Given the description of an element on the screen output the (x, y) to click on. 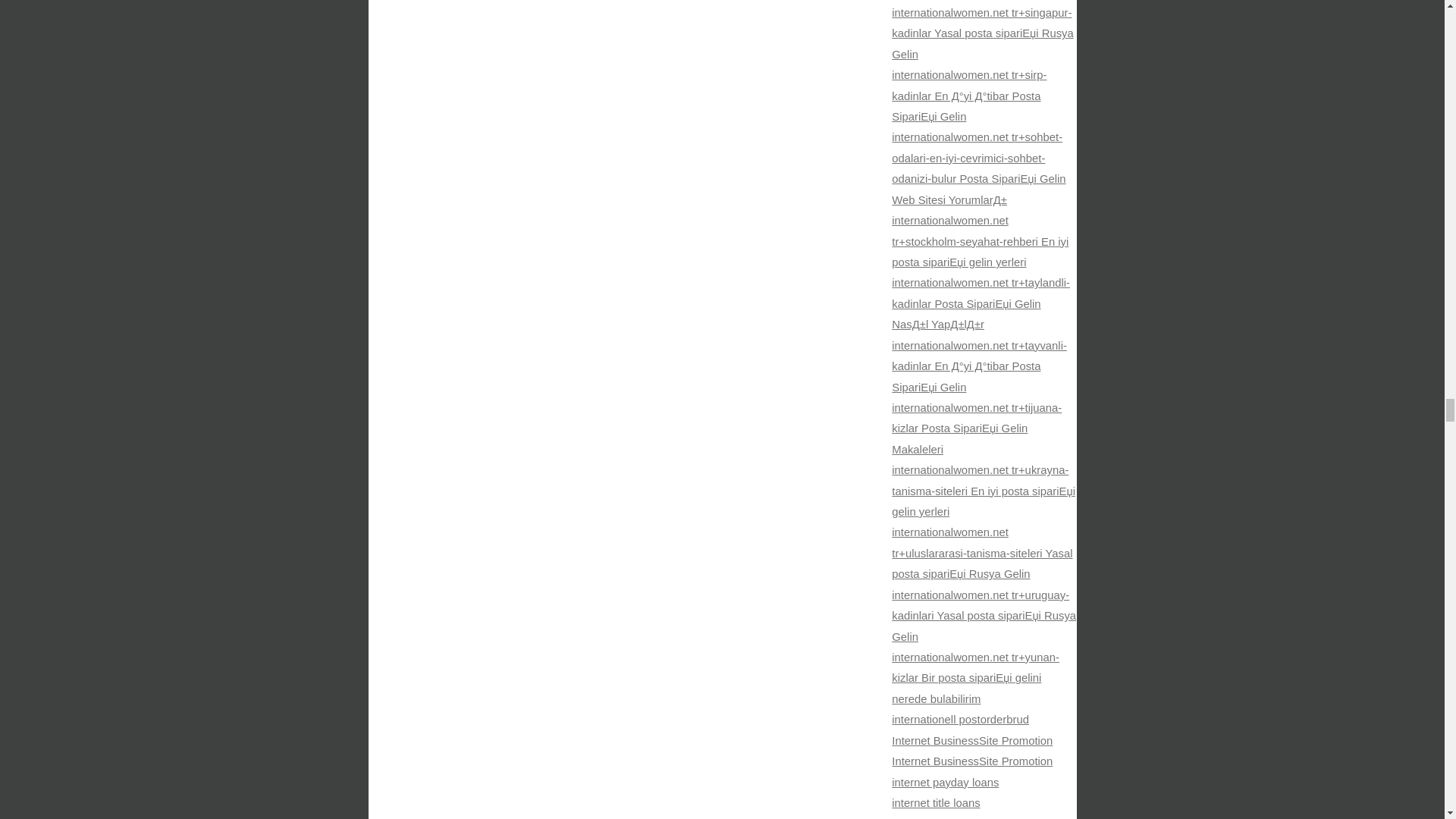
Internet BusinessSite Promotion (971, 761)
Internet BusinessSite Promotion (971, 740)
